Given the description of an element on the screen output the (x, y) to click on. 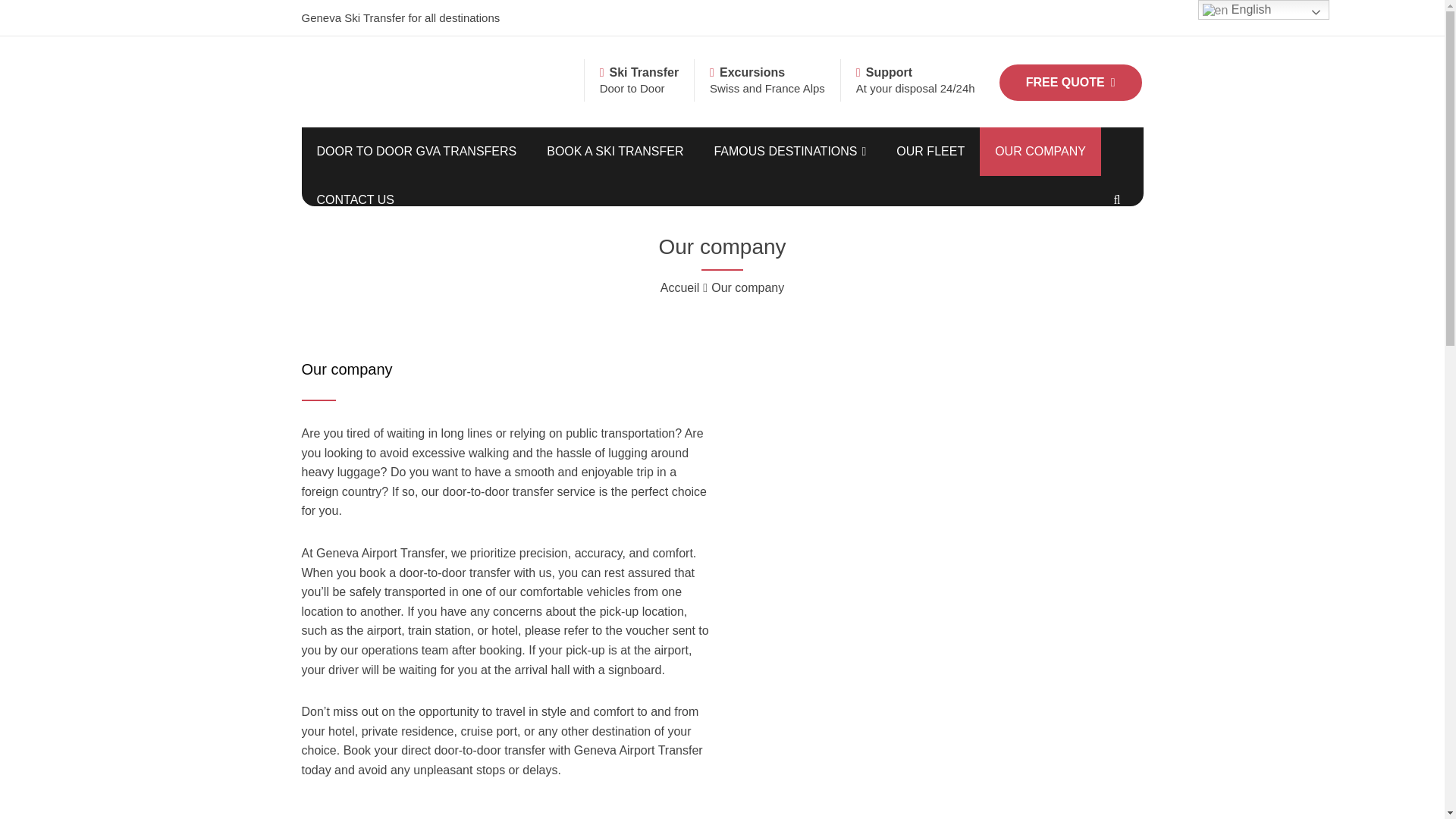
Accueil (680, 287)
OUR FLEET (929, 151)
BOOK A SKI TRANSFER (614, 151)
FAMOUS DESTINATIONS (789, 151)
DOOR TO DOOR GVA TRANSFERS (416, 151)
OUR COMPANY (1039, 151)
FREE QUOTE (1069, 82)
CONTACT US (355, 200)
